Given the description of an element on the screen output the (x, y) to click on. 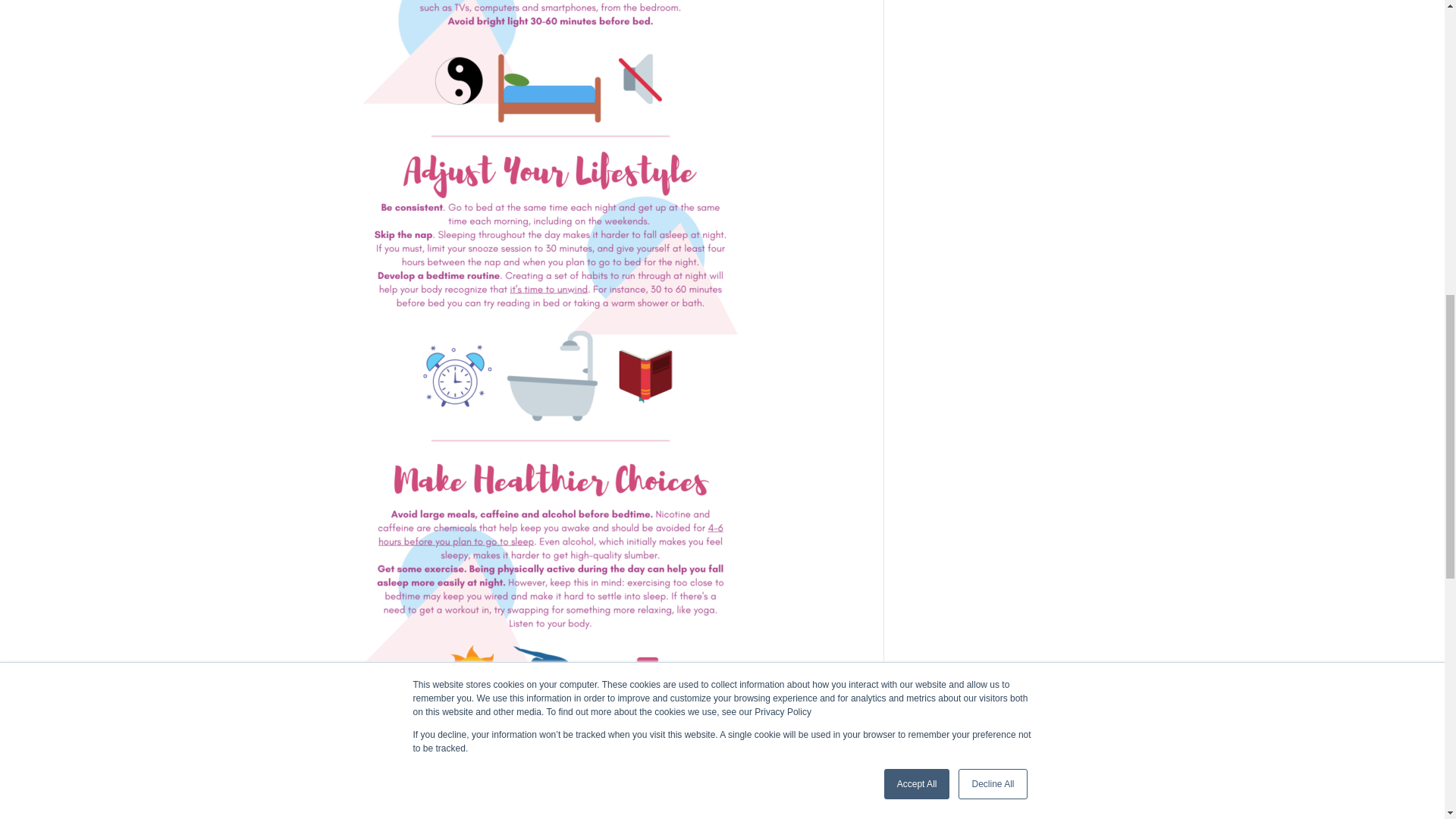
www.sleep.org (310, 812)
